Given the description of an element on the screen output the (x, y) to click on. 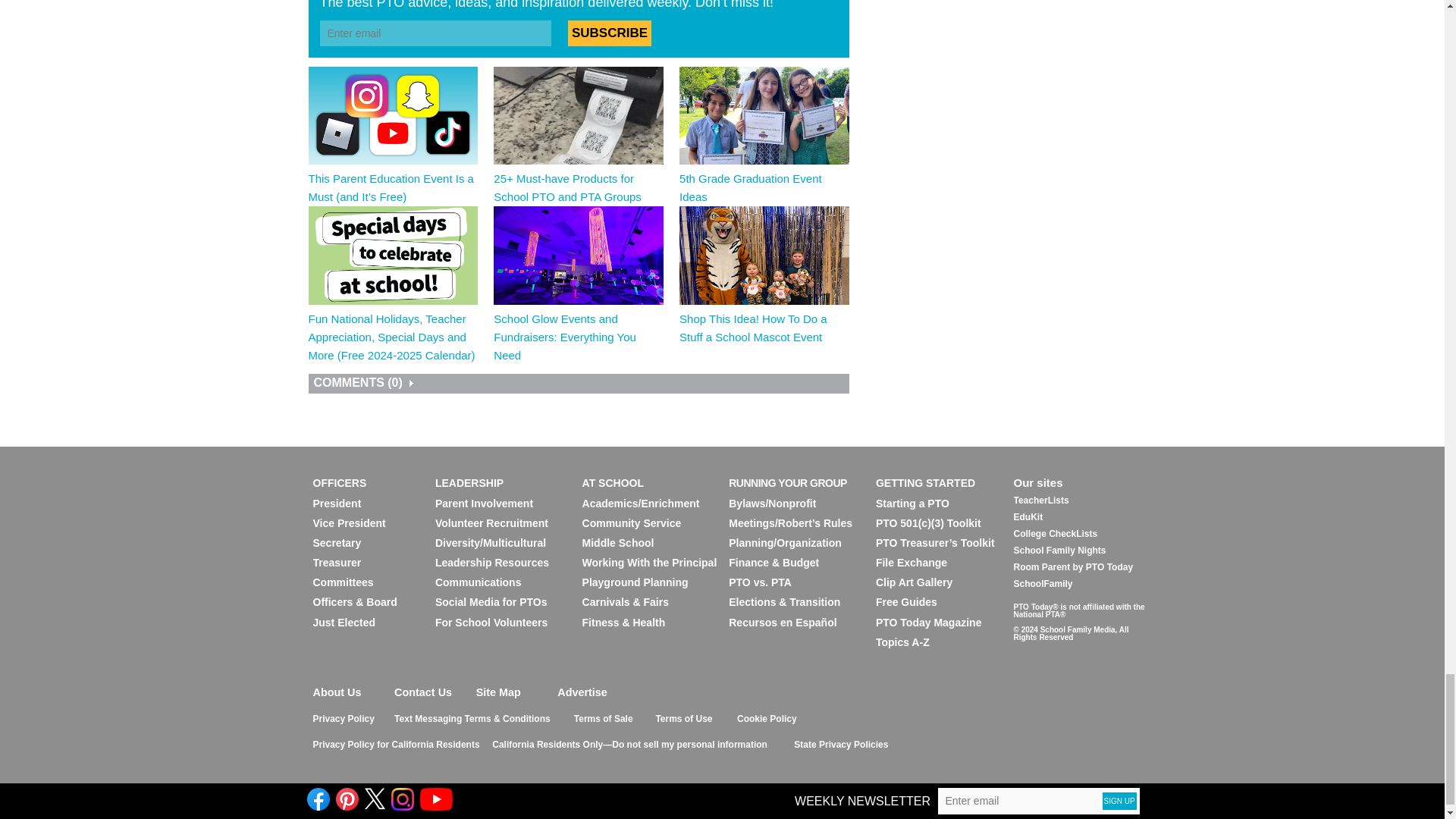
SUBSCRIBE (608, 32)
